Given the description of an element on the screen output the (x, y) to click on. 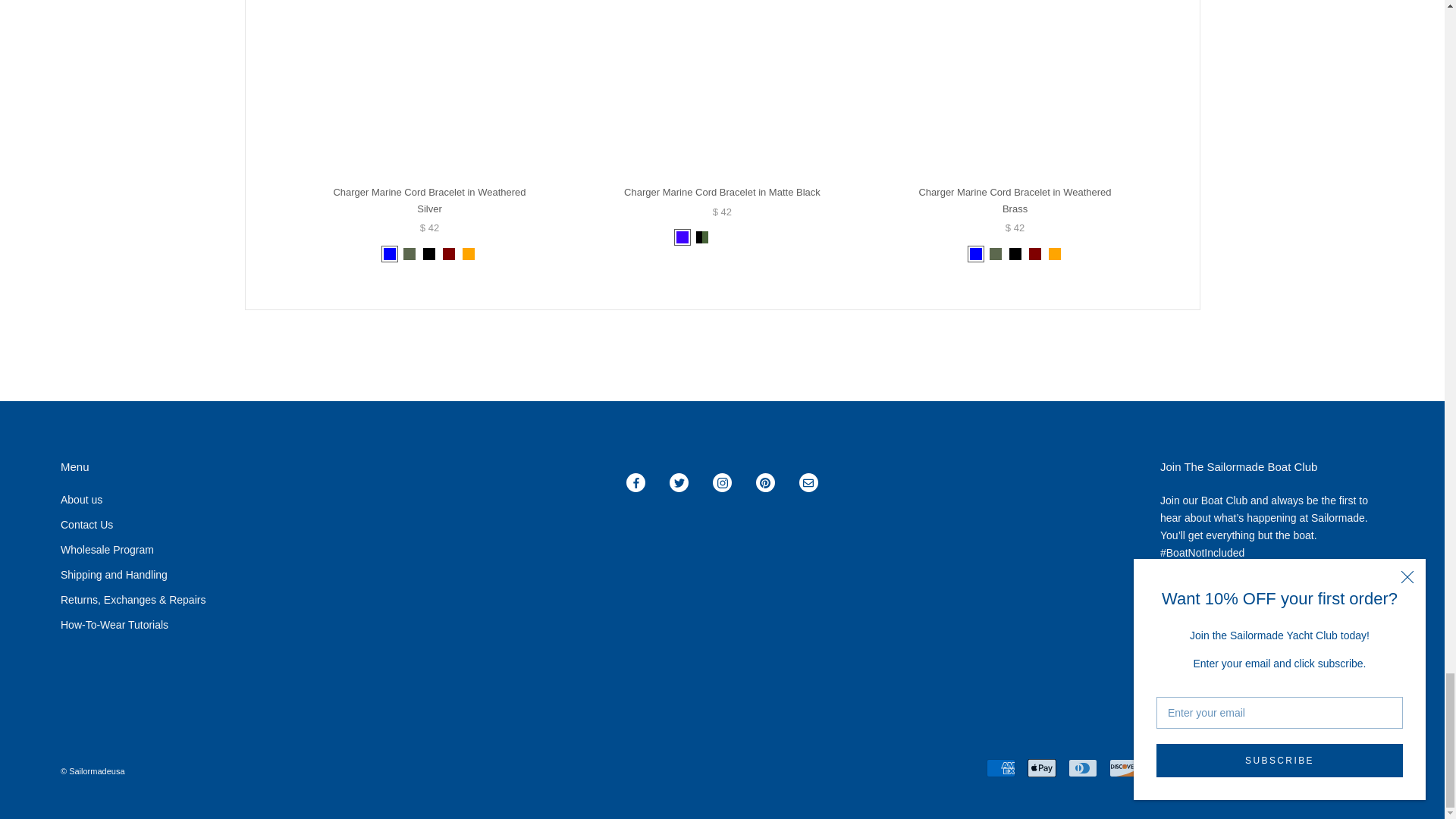
Camo (408, 254)
Maroon (448, 254)
Mastercard (1205, 768)
Black (429, 254)
American Express (1000, 768)
PayPal (1245, 768)
Meta Pay (1164, 768)
Visa (1369, 768)
Diners Club (1082, 768)
Discover (1123, 768)
Blue (390, 254)
Orange (468, 254)
Venmo (1328, 768)
Blue (975, 254)
Shop Pay (1286, 768)
